Given the description of an element on the screen output the (x, y) to click on. 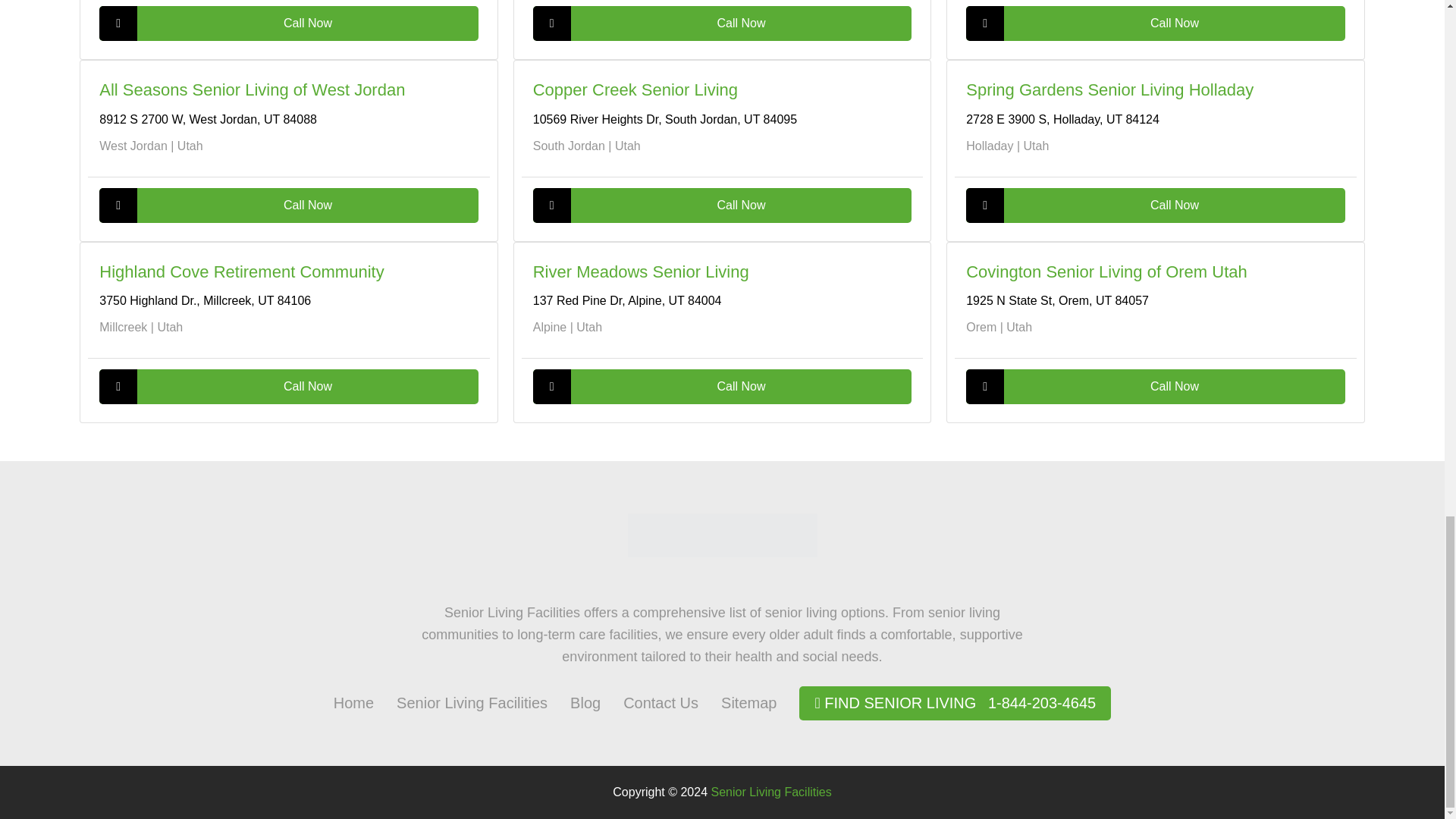
Call Now (721, 386)
Call Now (288, 386)
Call Now (1154, 386)
Senior Living Facilities (471, 702)
Call Now (288, 22)
Spring Gardens Senior Living Holladay (1109, 89)
River Meadows Senior Living (640, 270)
Copper Creek Senior Living (635, 89)
Senior Living Facilities (471, 702)
Covington Senior Living of Orem Utah (1106, 270)
Sitemap (748, 702)
Call Now (1154, 22)
Home (353, 702)
Highland Cove Retirement Community (241, 270)
Contact Us (660, 702)
